Given the description of an element on the screen output the (x, y) to click on. 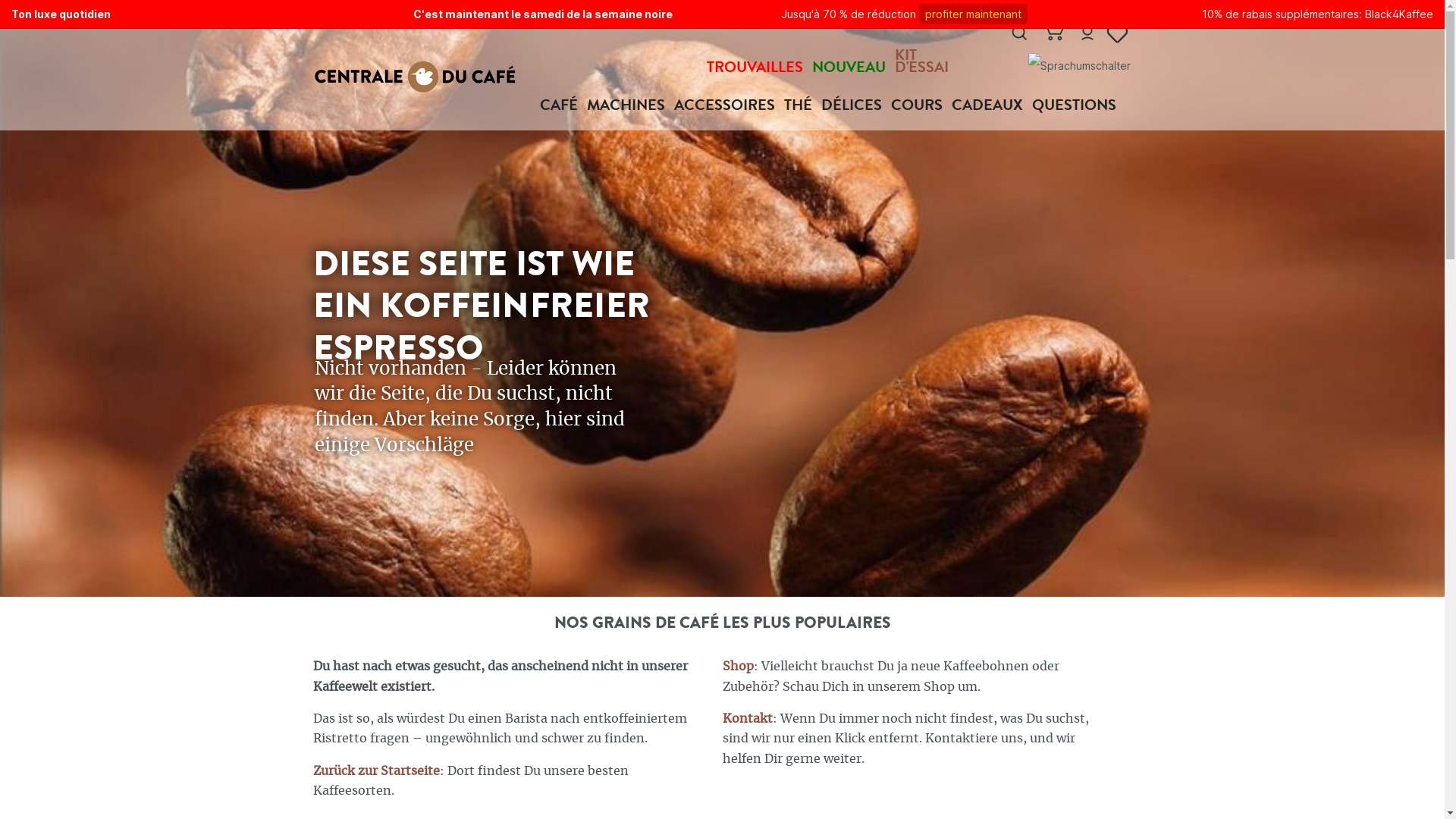
TROUVAILLES Element type: text (759, 67)
ACCESSOIRES Element type: text (728, 105)
MACHINES Element type: text (630, 105)
Shop Element type: text (737, 666)
Warenkorb Element type: hover (1052, 33)
NOUVEAU Element type: text (853, 67)
CADEAUX Element type: text (990, 105)
profiter maintenant Element type: text (973, 13)
KIT D'ESSAI Element type: text (925, 61)
profiter maintenant Element type: text (973, 13)
Ihr Konto Element type: hover (1086, 33)
Merkzettel Element type: hover (1120, 32)
Kontakt Element type: text (746, 718)
Zur Startseite gehen Element type: hover (414, 76)
COURS Element type: text (920, 105)
QUESTIONS Element type: text (1077, 105)
